Given the description of an element on the screen output the (x, y) to click on. 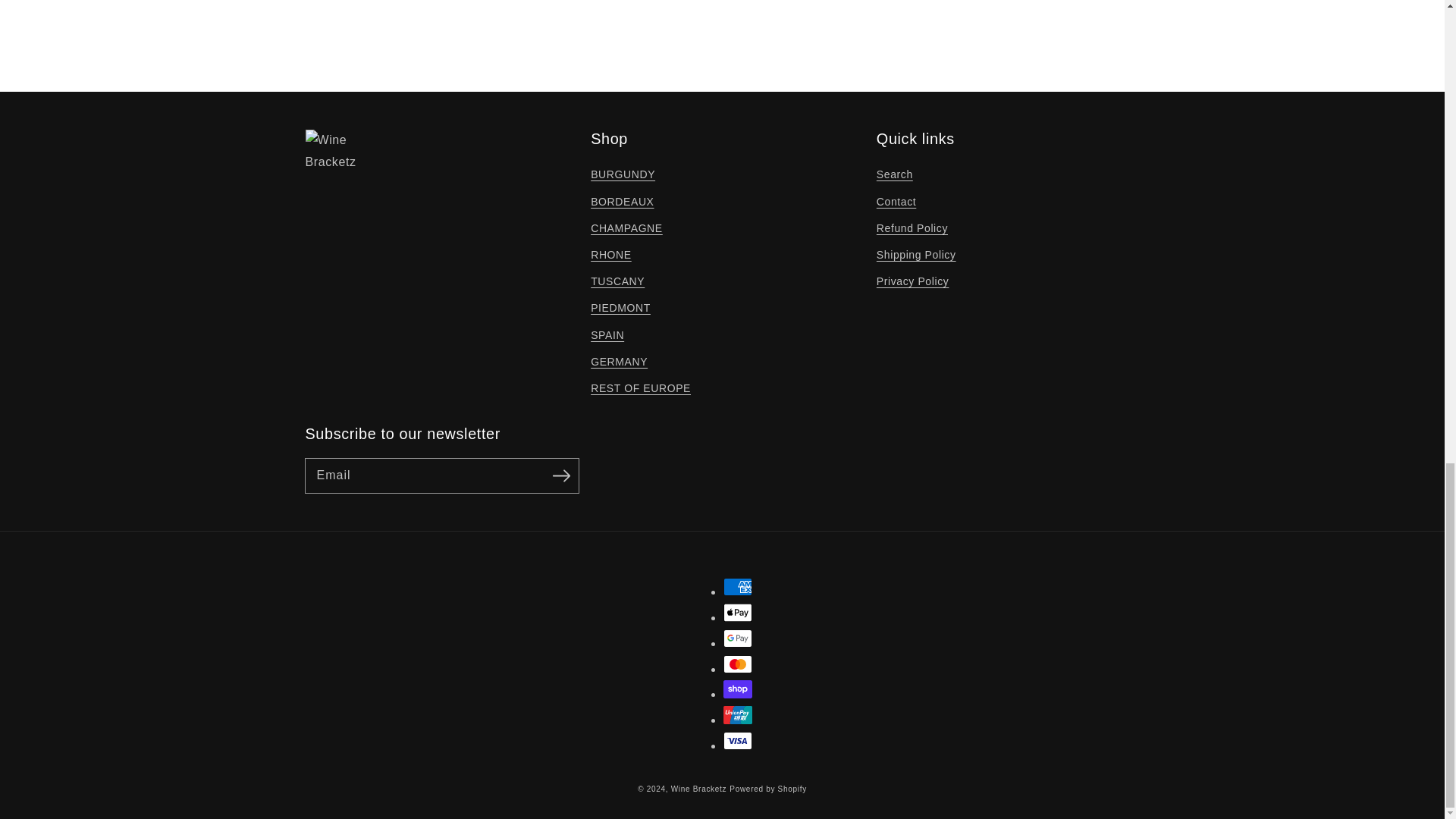
Union Pay (737, 714)
Mastercard (737, 664)
Shop Pay (737, 689)
Apple Pay (737, 612)
Visa (737, 741)
American Express (737, 587)
Google Pay (737, 638)
